Given the description of an element on the screen output the (x, y) to click on. 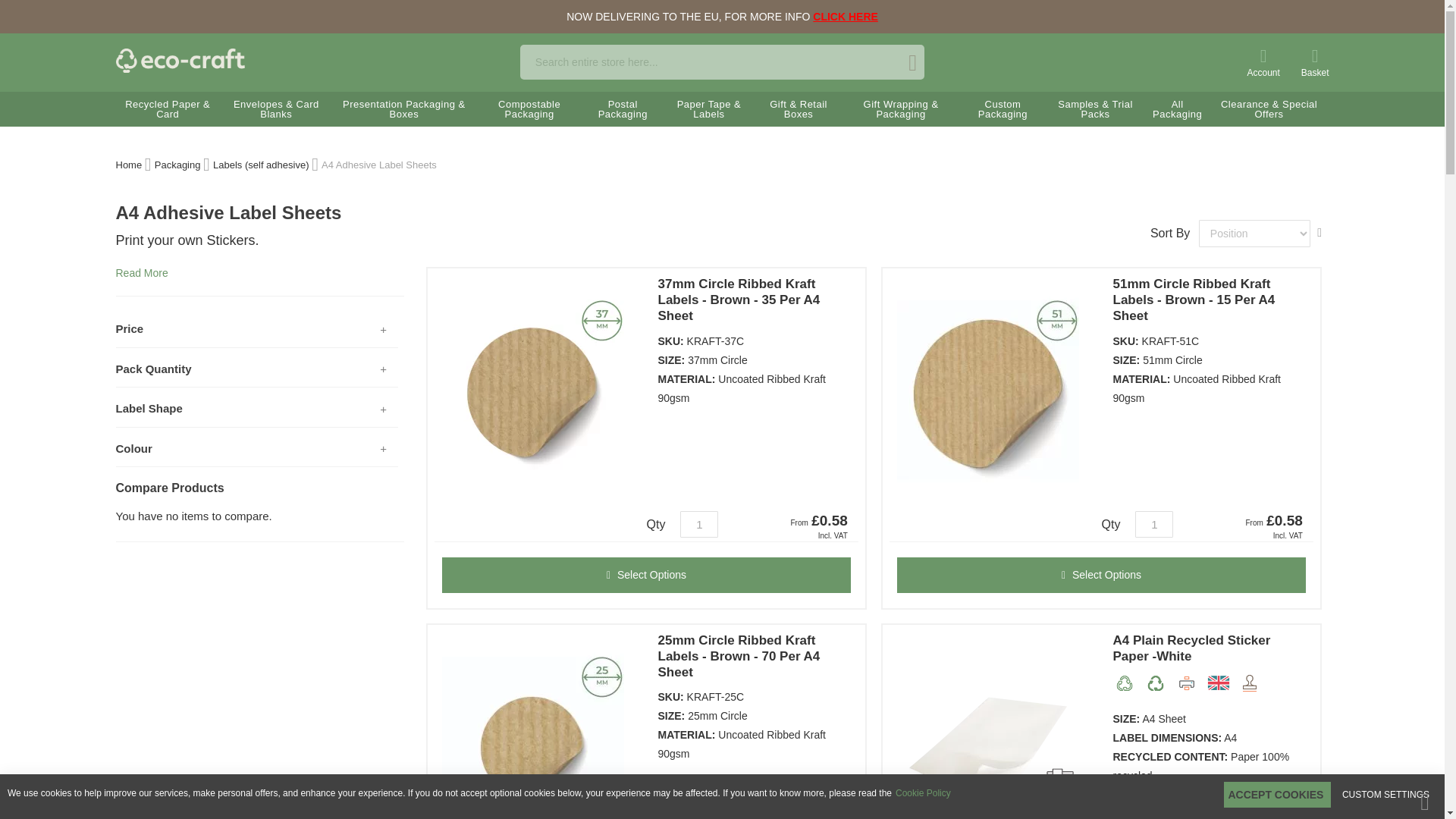
Qty (698, 524)
1 (698, 524)
Qty (1154, 524)
1 (1154, 524)
CLICK HERE (844, 16)
My Cart (1315, 61)
Account (1262, 61)
Go to Home Page (128, 164)
